Given the description of an element on the screen output the (x, y) to click on. 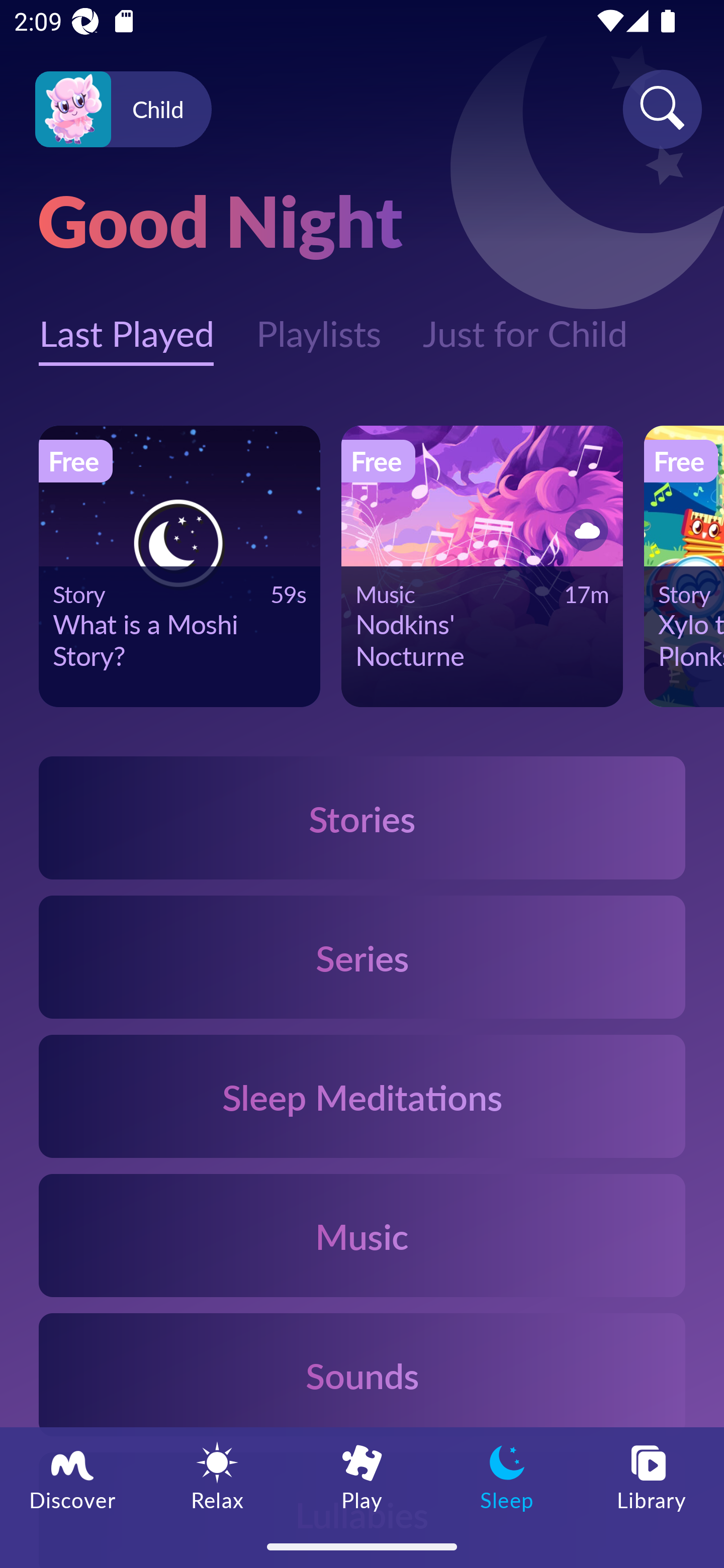
Profile icon Child (123, 109)
Playlists (317, 322)
Just for Child (524, 322)
Button (583, 529)
Stories (361, 817)
Series (361, 957)
Sleep Meditations (361, 1096)
Music (361, 1234)
Sounds (361, 1374)
Discover (72, 1475)
Relax (216, 1475)
Play (361, 1475)
Library (651, 1475)
